Given the description of an element on the screen output the (x, y) to click on. 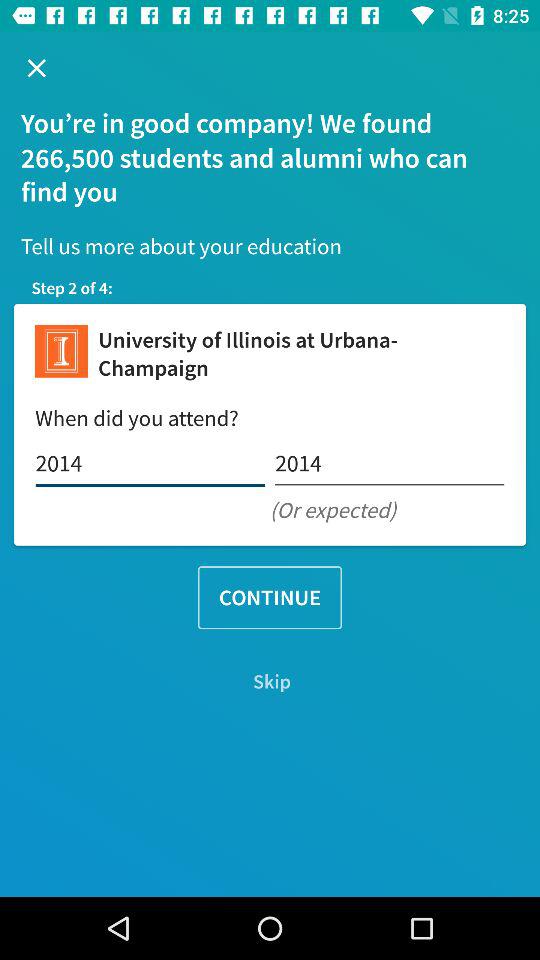
swipe to the skip icon (269, 681)
